Given the description of an element on the screen output the (x, y) to click on. 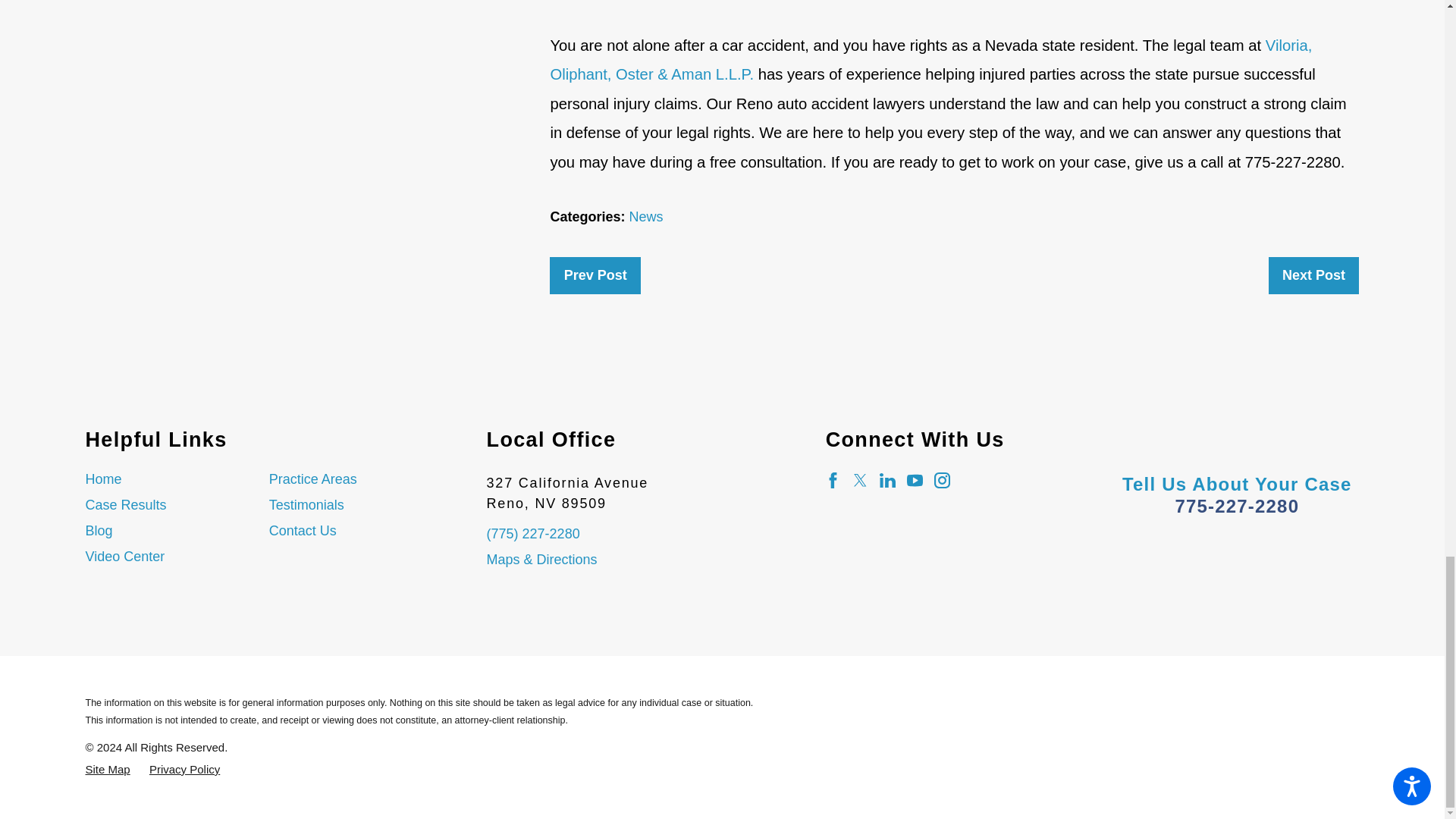
Facebook (833, 480)
LinkedIn (887, 480)
YouTube (915, 480)
Twitter (859, 480)
Instagram (942, 480)
